Given the description of an element on the screen output the (x, y) to click on. 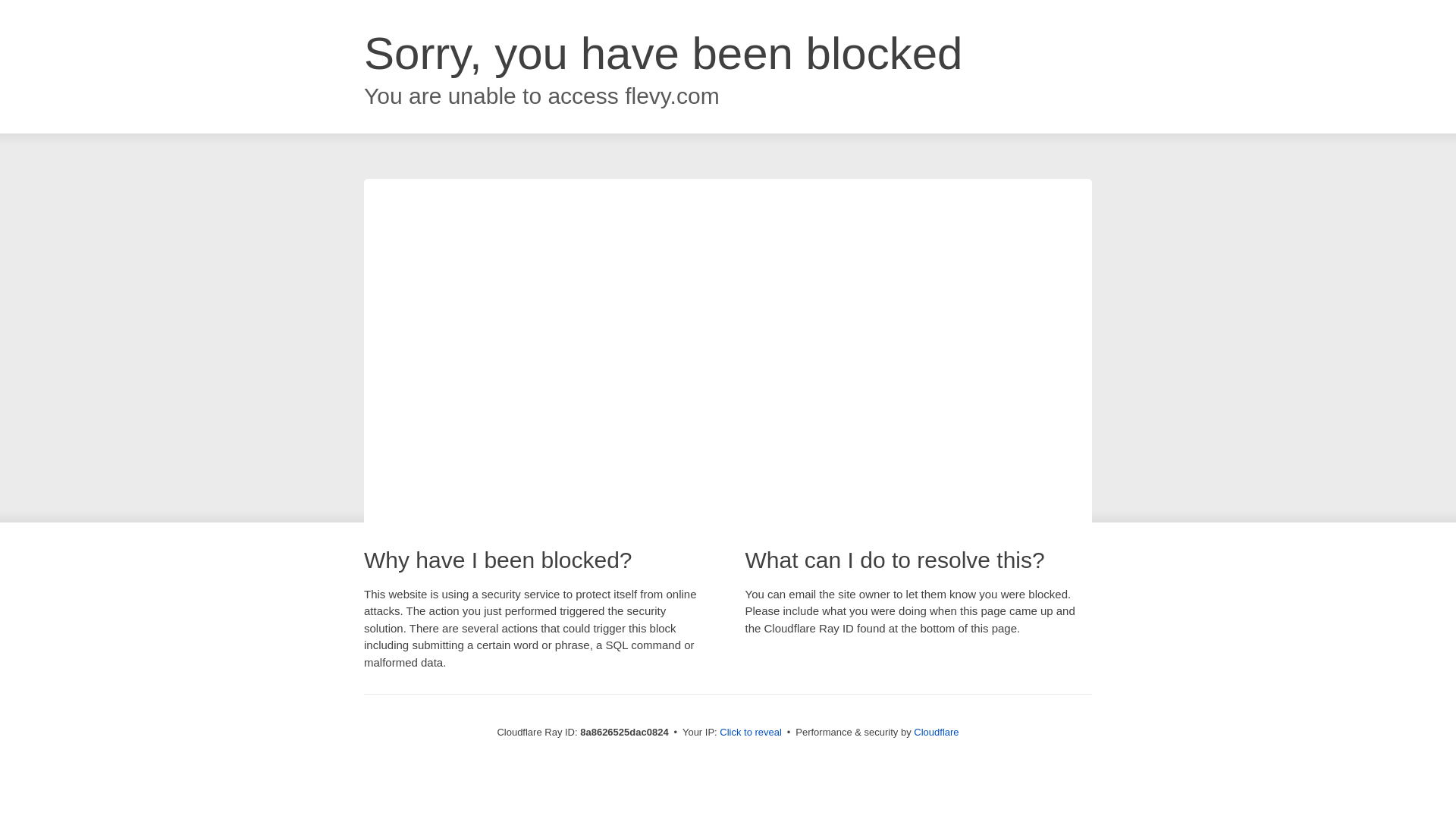
Cloudflare (936, 731)
Click to reveal (750, 732)
